Given the description of an element on the screen output the (x, y) to click on. 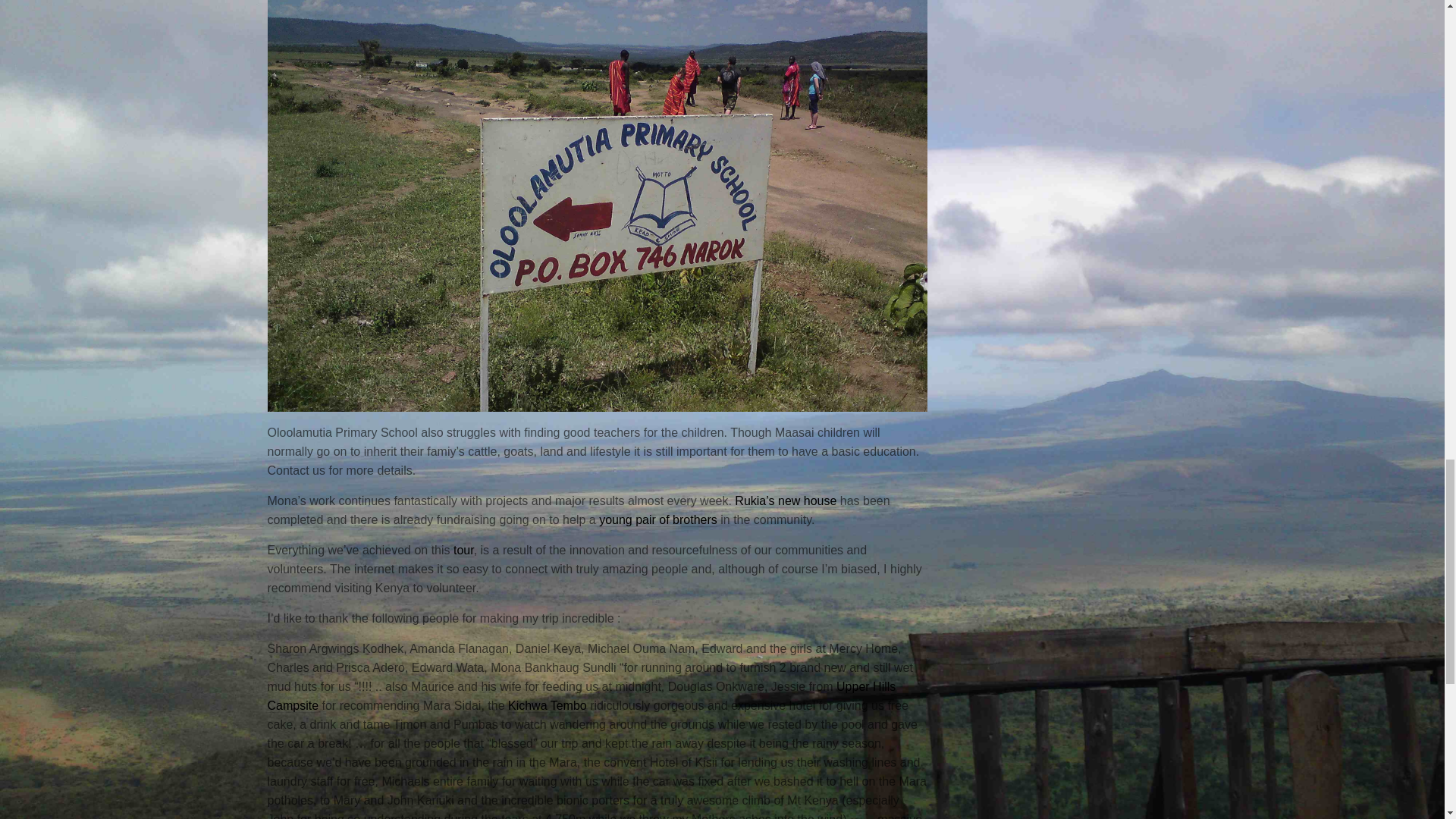
tour (463, 549)
young pair of brothers (657, 519)
Upper Hills Campsite (580, 695)
Kichwa Tembo (547, 705)
